Given the description of an element on the screen output the (x, y) to click on. 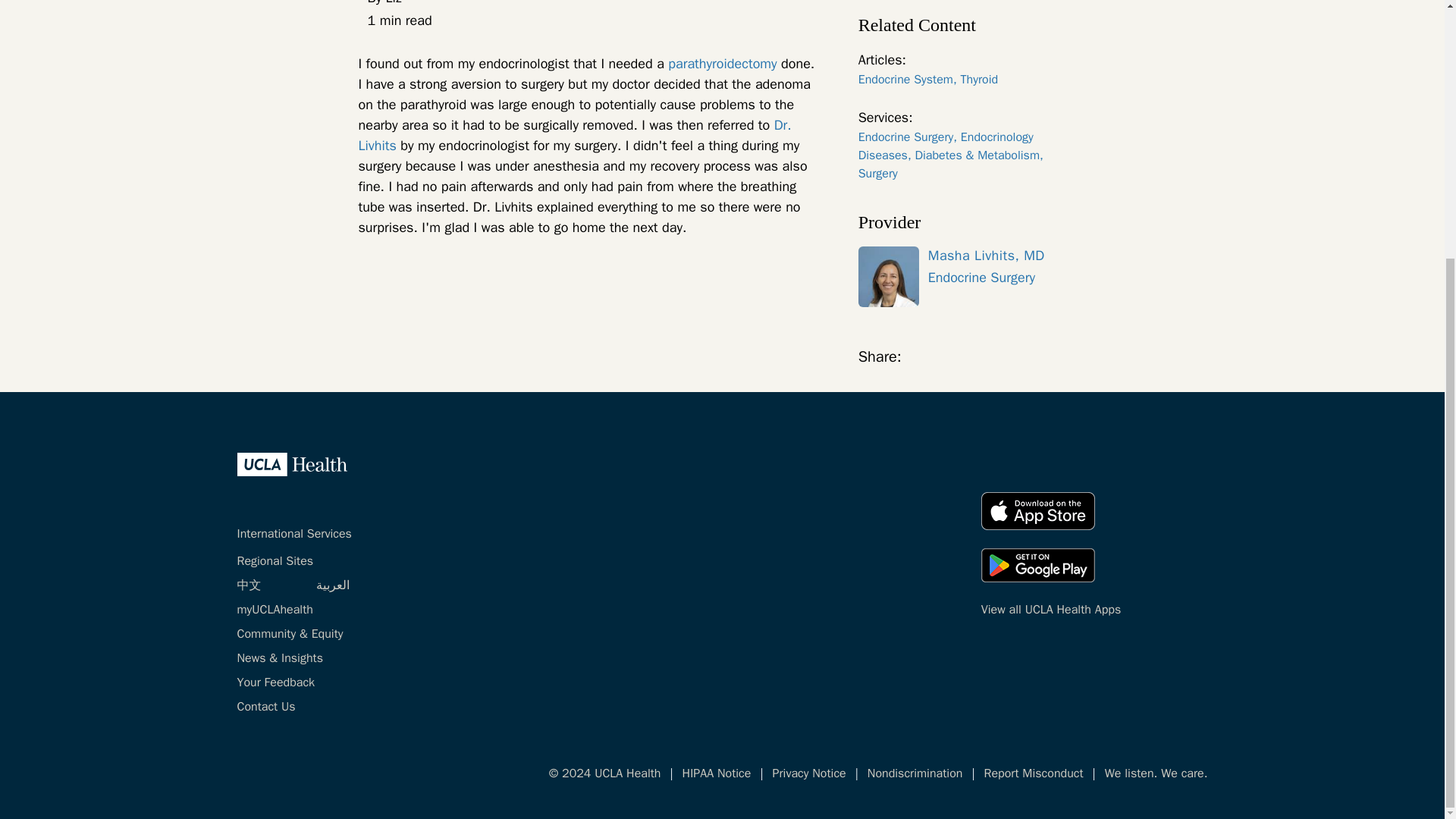
Dr. Livhits (574, 135)
myUCLAhealth Login. (274, 609)
parathyroidectomy (722, 63)
